Given the description of an element on the screen output the (x, y) to click on. 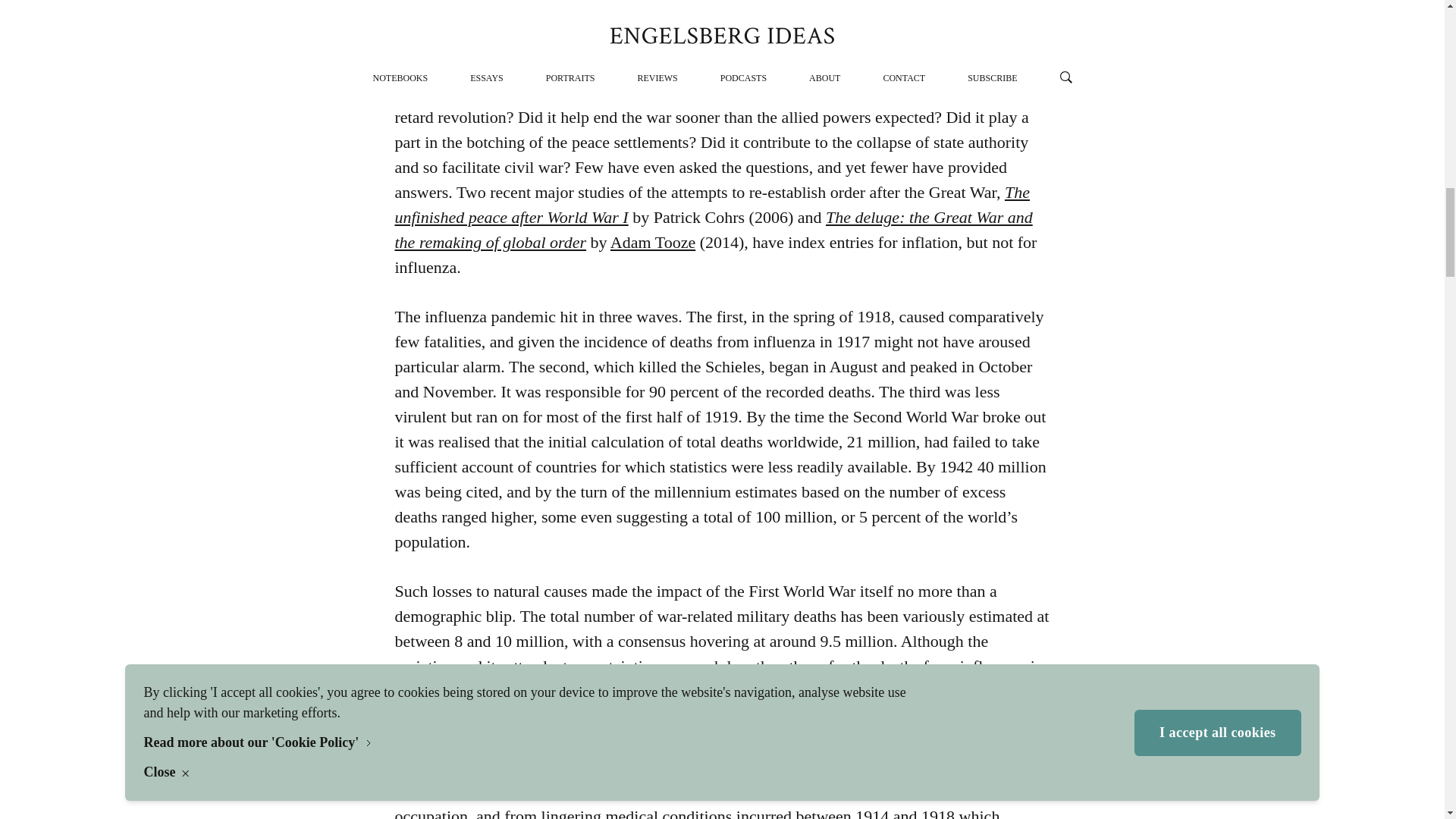
Adam Tooze (652, 241)
The unfinished peace after World War I (711, 204)
Tuberculosis (801, 41)
The deluge: the Great War and the remaking of global order (713, 229)
influenza pandemic of 1918 and 1919 (714, 29)
